Given the description of an element on the screen output the (x, y) to click on. 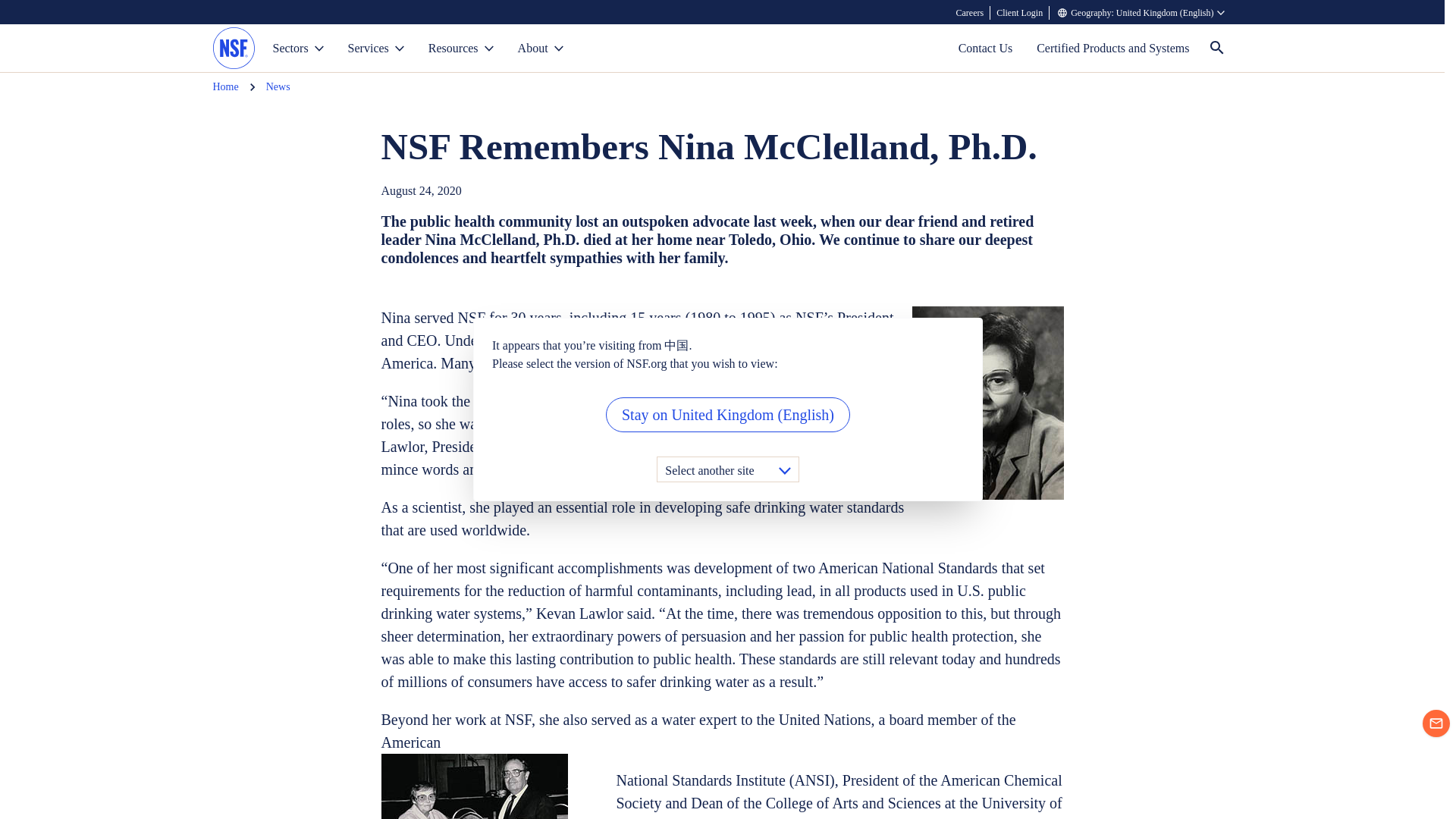
Home (225, 86)
News (277, 86)
Sectors (298, 48)
About (540, 48)
Client Login (1019, 12)
Resources (460, 48)
Certified Products and Systems (1113, 48)
Contact Us (985, 48)
Careers (970, 12)
Services (376, 48)
